Given the description of an element on the screen output the (x, y) to click on. 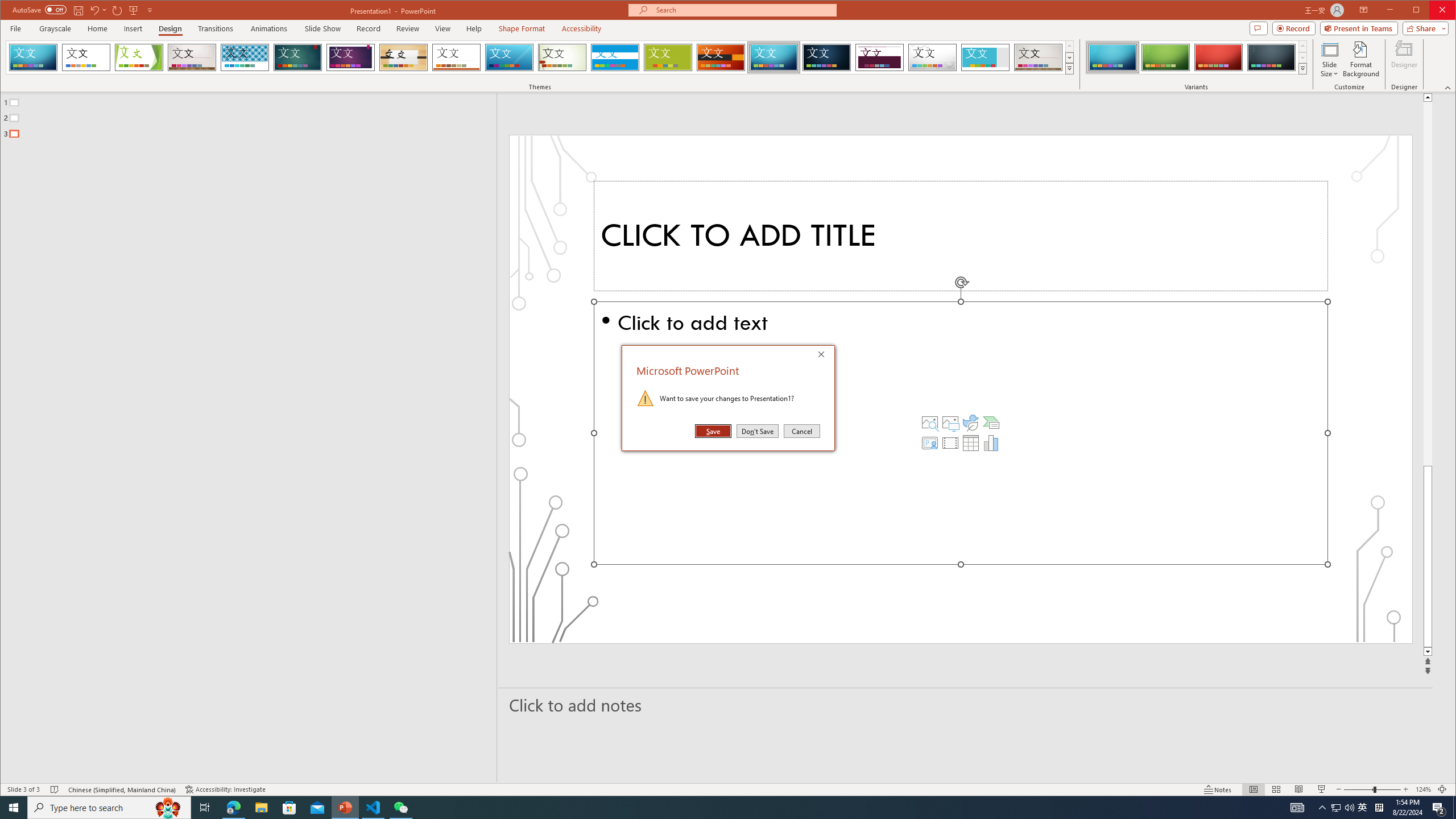
Insert Chart (991, 443)
Don't Save (757, 431)
Maximize (1432, 11)
Type here to search (108, 807)
Dividend (879, 57)
Organic (403, 57)
Themes (1069, 68)
AutomationID: SlideThemesGallery (540, 57)
Ion Boardroom (350, 57)
